Given the description of an element on the screen output the (x, y) to click on. 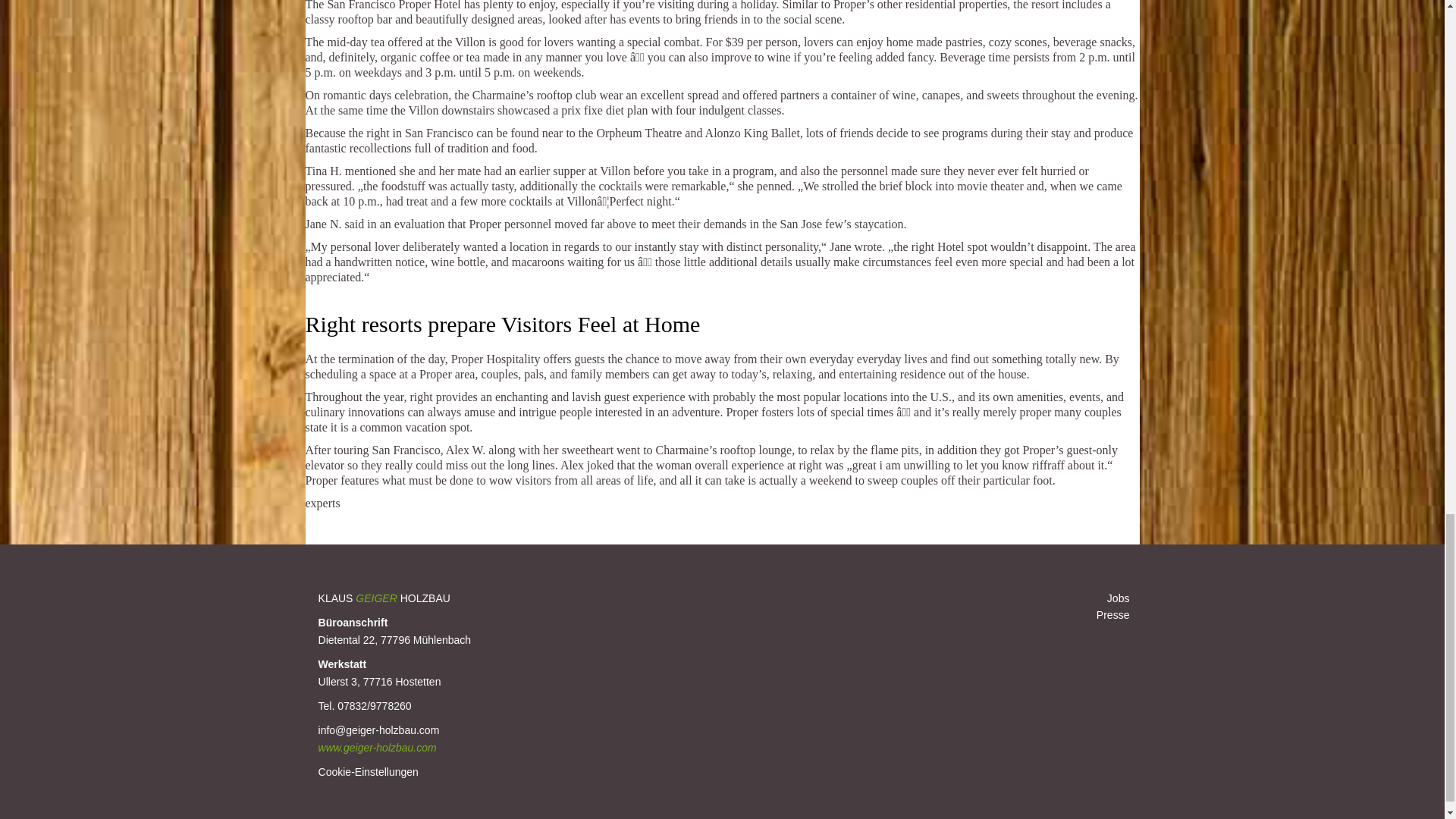
Presse (1112, 614)
Uncategorized (396, 535)
Jobs (1117, 598)
experts (321, 502)
Cookie-Einstellungen (368, 771)
